Given the description of an element on the screen output the (x, y) to click on. 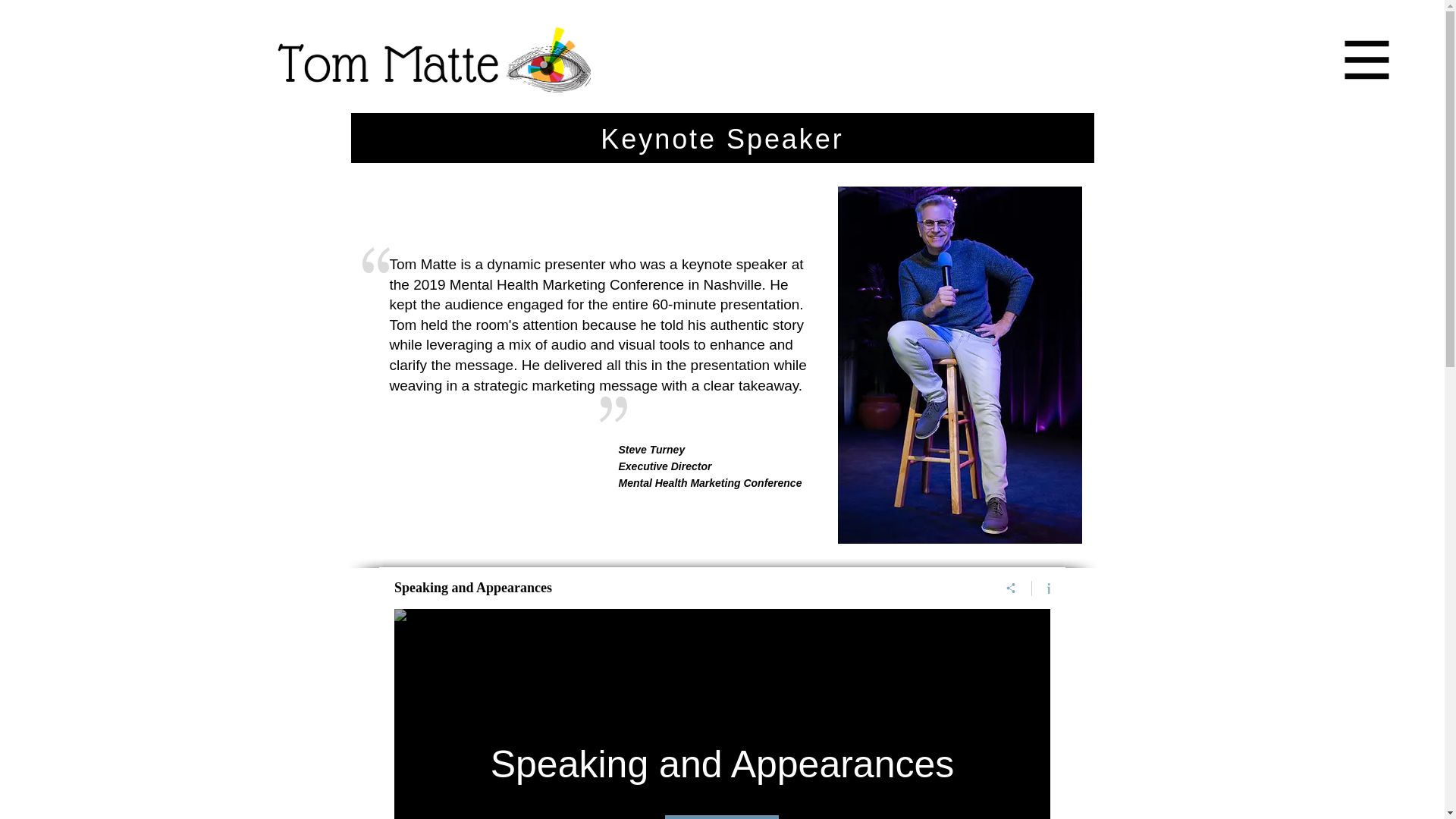
Speaking and Appearances (684, 587)
Speaking and Appearances (722, 764)
Play Video (721, 816)
